Given the description of an element on the screen output the (x, y) to click on. 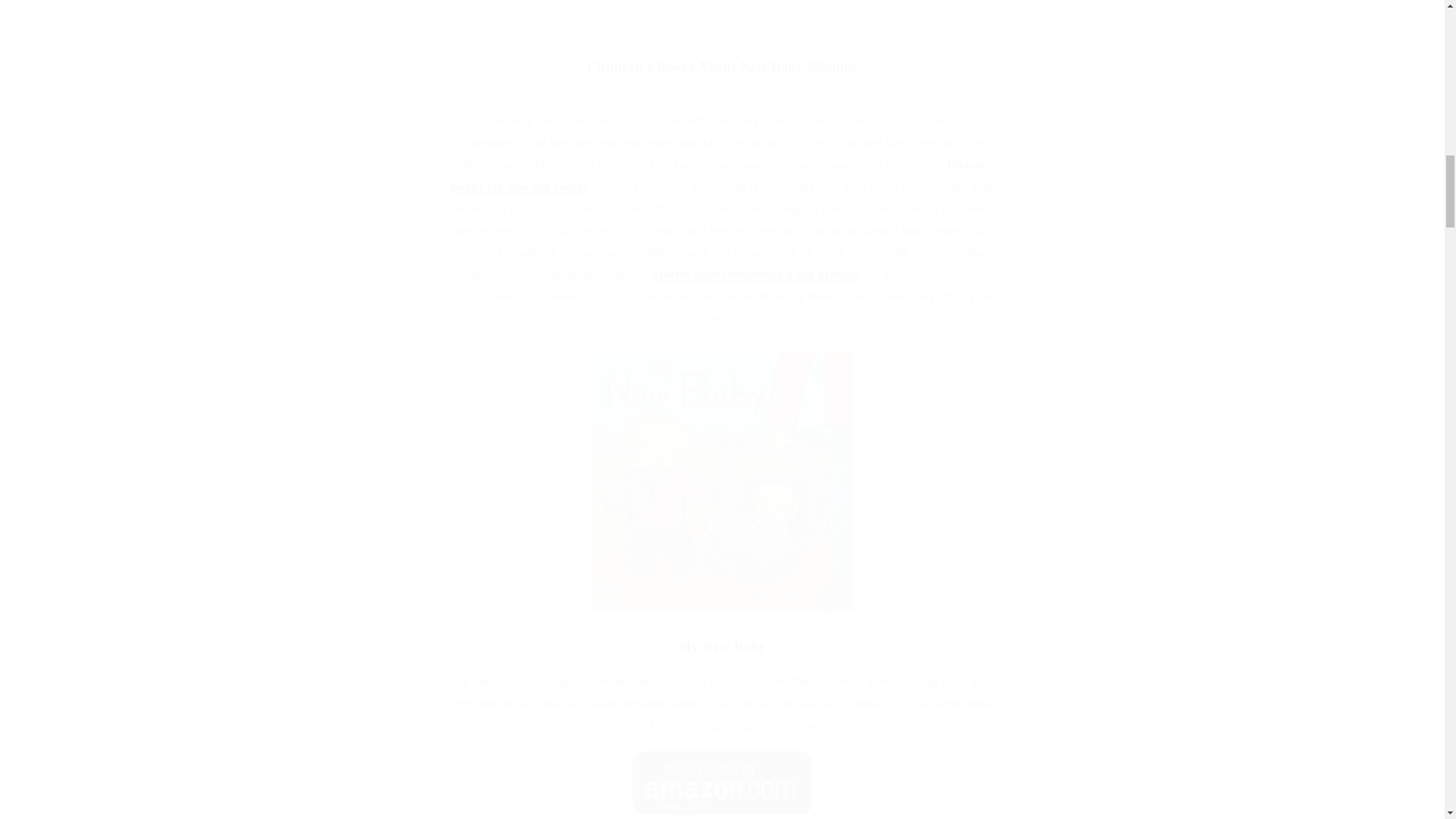
big sister books (718, 175)
big brother books (755, 273)
My New Baby (721, 814)
